Given the description of an element on the screen output the (x, y) to click on. 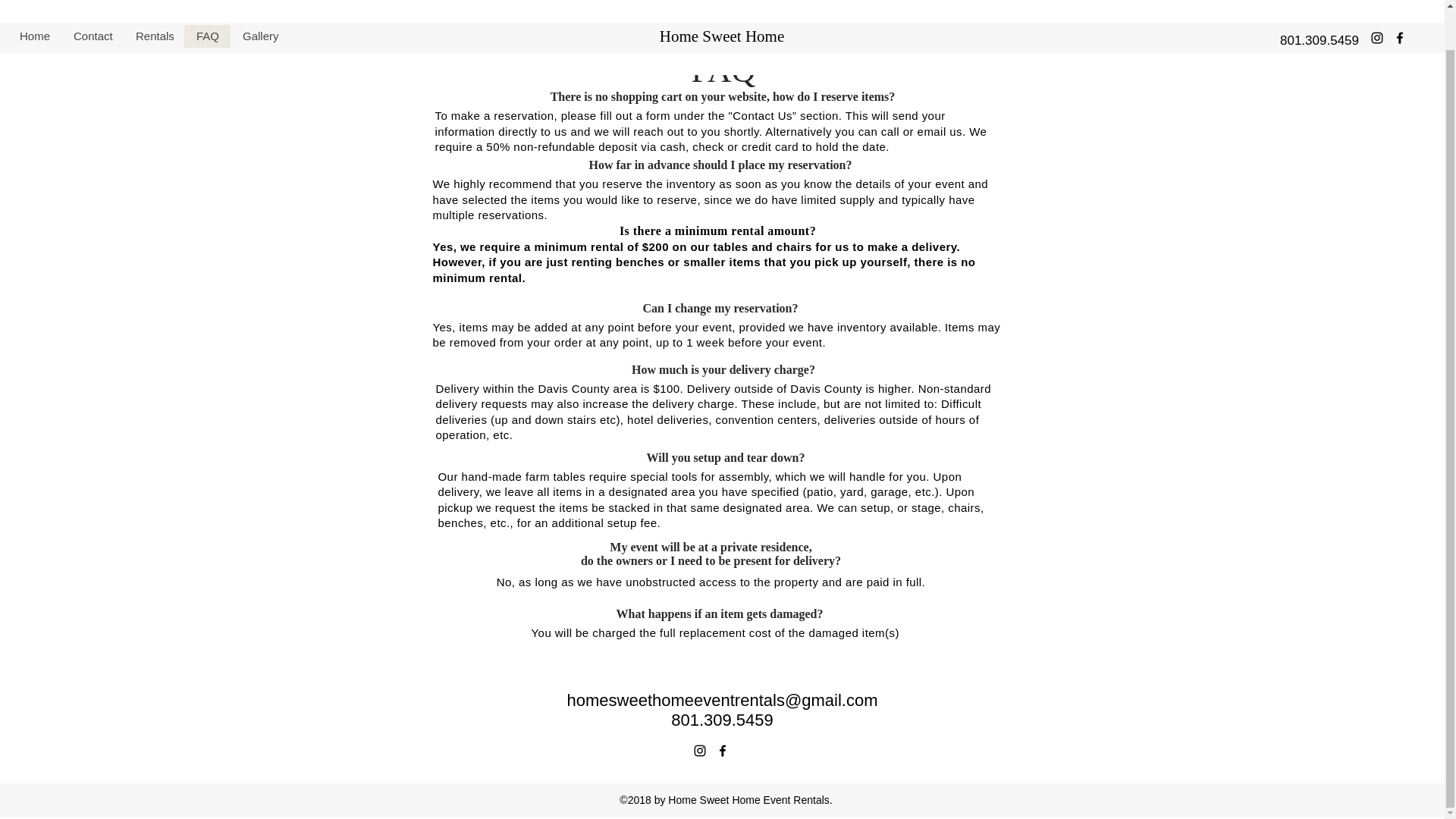
Home (34, 2)
Contact (92, 2)
FAQ (207, 2)
Gallery (259, 2)
Rentals (153, 2)
